Given the description of an element on the screen output the (x, y) to click on. 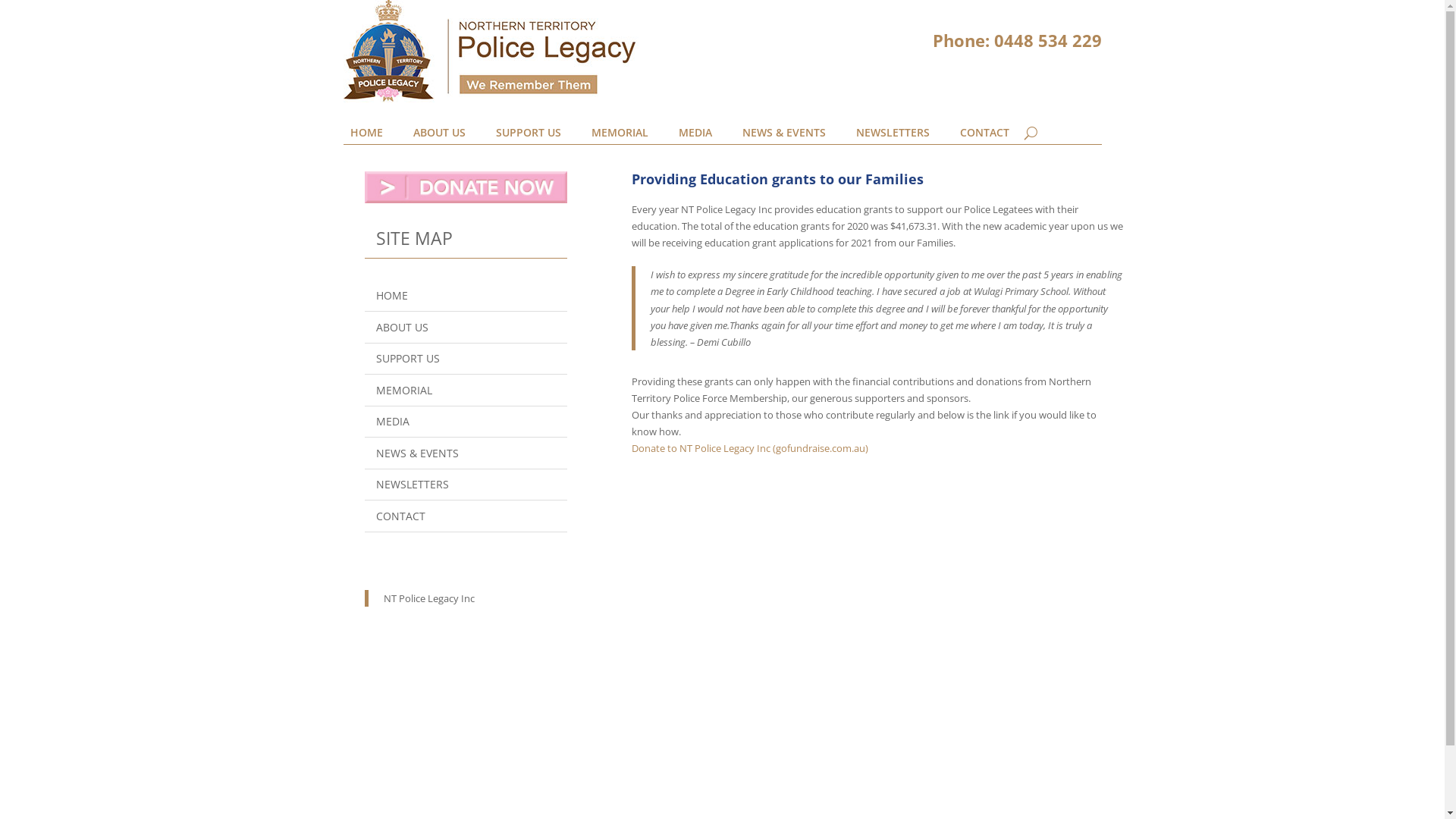
SUPPORT US Element type: text (465, 358)
MEMORIAL Element type: text (465, 390)
NT Police Legacy Inc Element type: text (428, 598)
MEDIA Element type: text (465, 421)
SUPPORT US Element type: text (528, 135)
MEDIA Element type: text (694, 135)
logo-NTPL Element type: hover (489, 51)
NEWS & EVENTS Element type: text (465, 453)
HOME Element type: text (465, 295)
ABOUT US Element type: text (465, 327)
Donate to NT Police Legacy Inc (gofundraise.c Element type: text (733, 448)
CONTACT Element type: text (984, 135)
HOME Element type: text (366, 135)
CONTACT Element type: text (465, 516)
om.au) Element type: text (852, 448)
NEWS & EVENTS Element type: text (783, 135)
NEWSLETTERS Element type: text (891, 135)
ABOUT US Element type: text (438, 135)
MEMORIAL Element type: text (619, 135)
NEWSLETTERS Element type: text (465, 484)
